Given the description of an element on the screen output the (x, y) to click on. 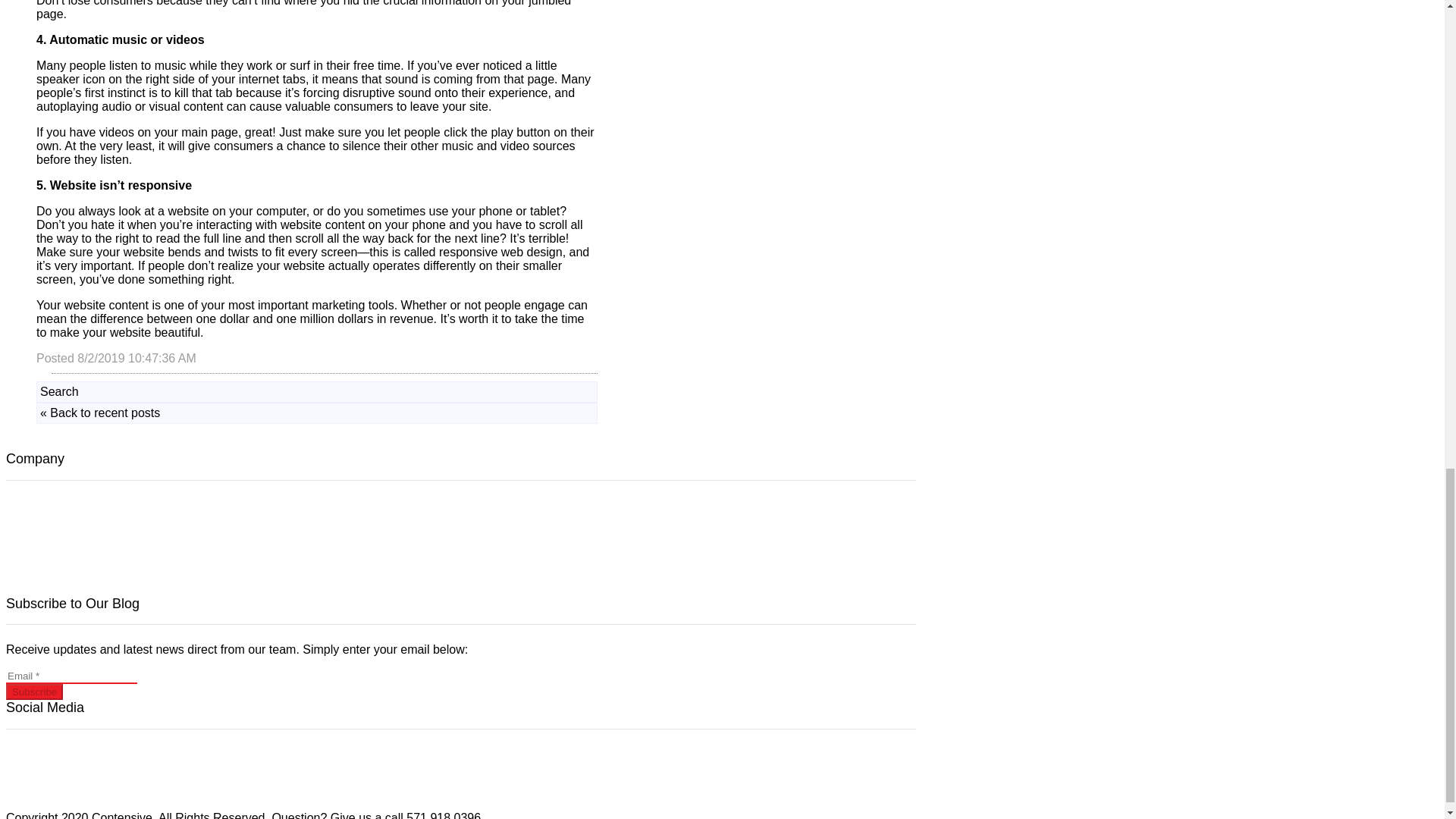
Search (59, 391)
